Given the description of an element on the screen output the (x, y) to click on. 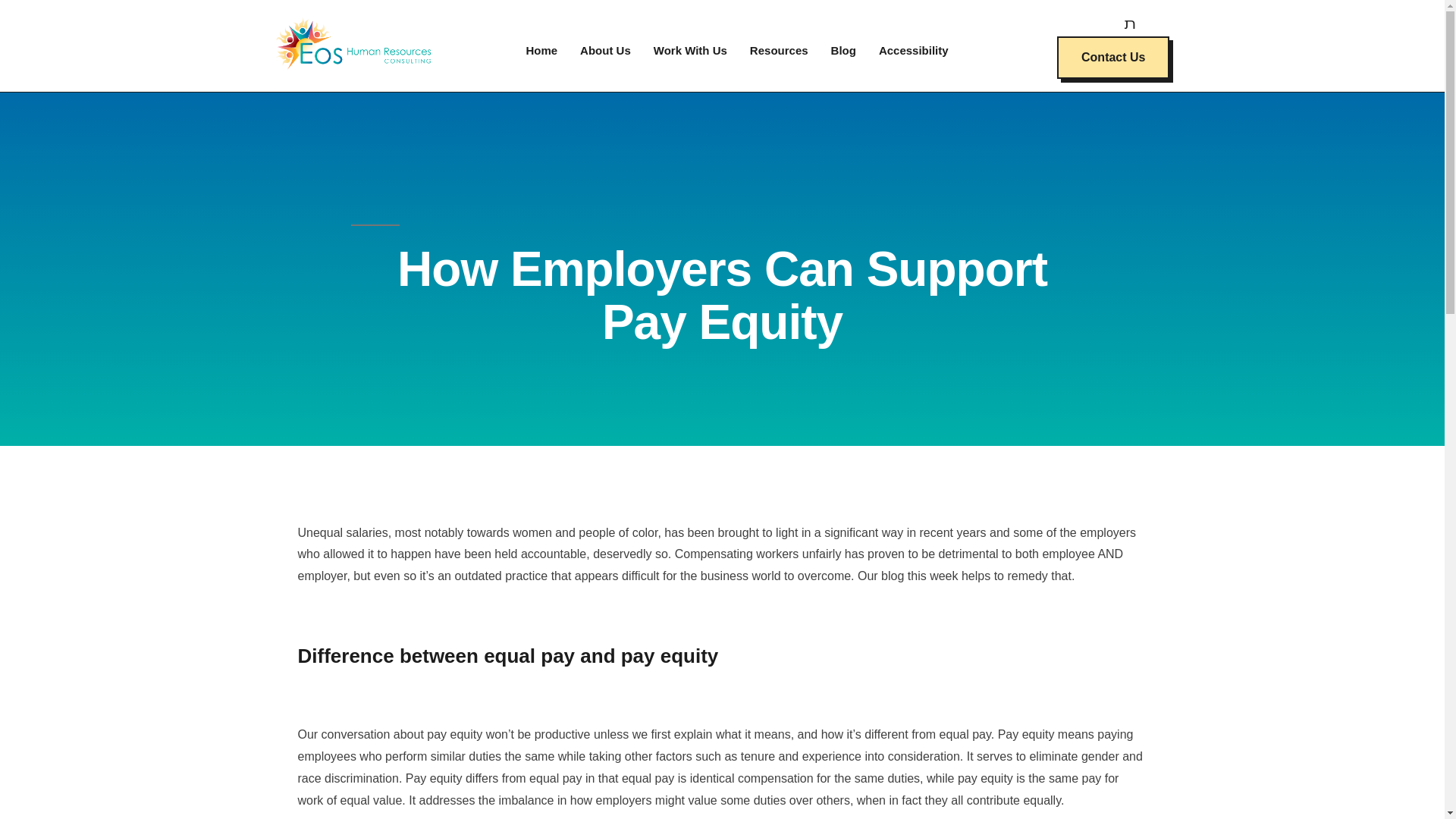
Contact Us (1113, 57)
Accessibility (913, 49)
About Us (605, 49)
Work With Us (690, 49)
Resources (778, 49)
